Given the description of an element on the screen output the (x, y) to click on. 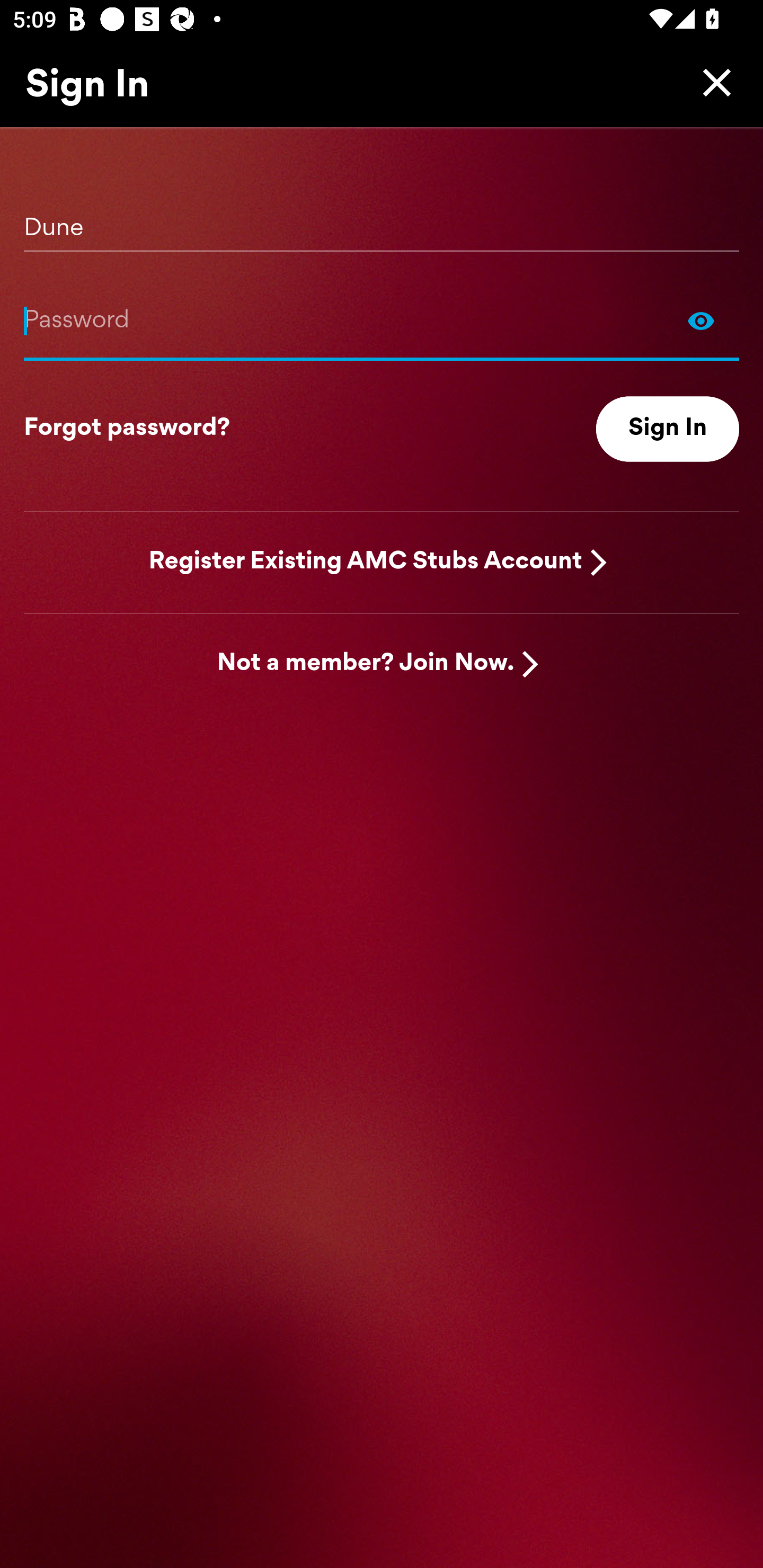
Close (712, 82)
Dune (381, 220)
Show Password (381, 320)
Show Password (701, 320)
Forgot password? (126, 428)
Sign In (667, 428)
Register Existing AMC Stubs Account (365, 561)
Not a member? Join Now. (365, 663)
